Given the description of an element on the screen output the (x, y) to click on. 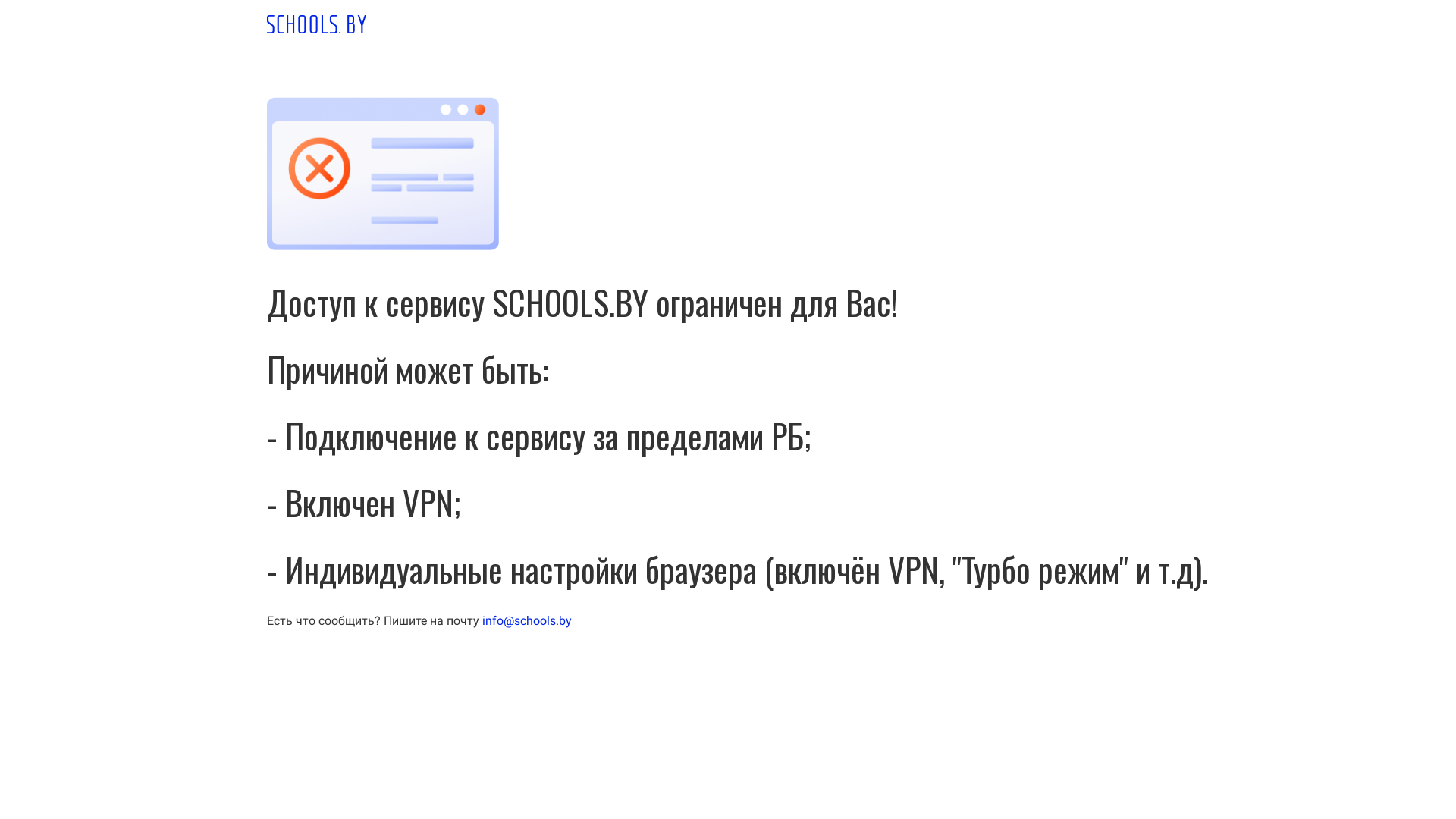
info@schools.by Element type: text (526, 620)
